Given the description of an element on the screen output the (x, y) to click on. 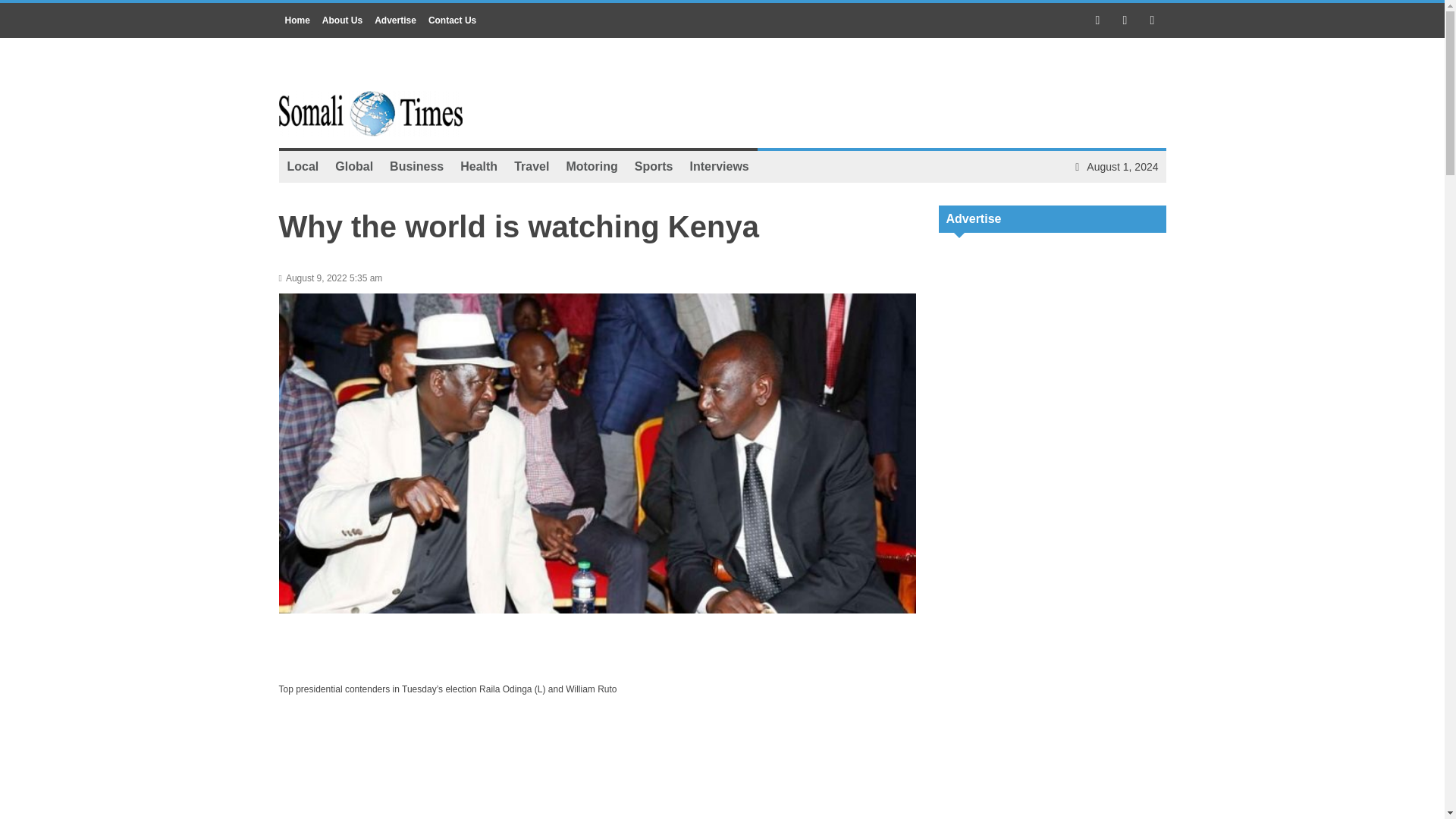
Contact Us (451, 20)
Local (303, 166)
Interviews (719, 166)
Travel (531, 166)
Sports (653, 166)
Business (416, 166)
Home (297, 20)
Motoring (591, 166)
Global (353, 166)
Health (478, 166)
About Us (341, 20)
Advertise (395, 20)
